Given the description of an element on the screen output the (x, y) to click on. 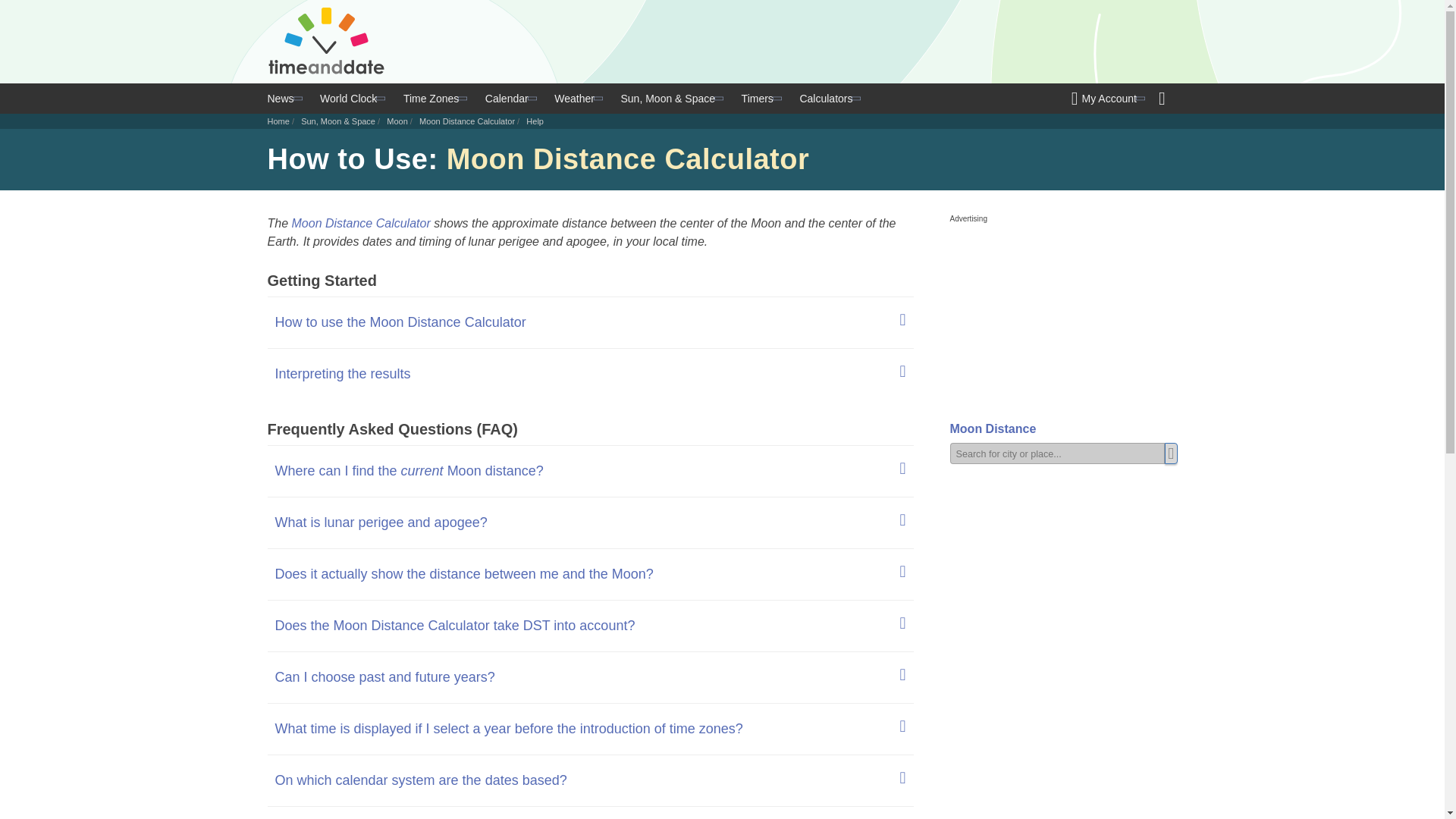
Home page timeanddate.com (327, 41)
World Clock (351, 98)
Calendar (509, 98)
News (285, 98)
Time Zones (433, 98)
